Given the description of an element on the screen output the (x, y) to click on. 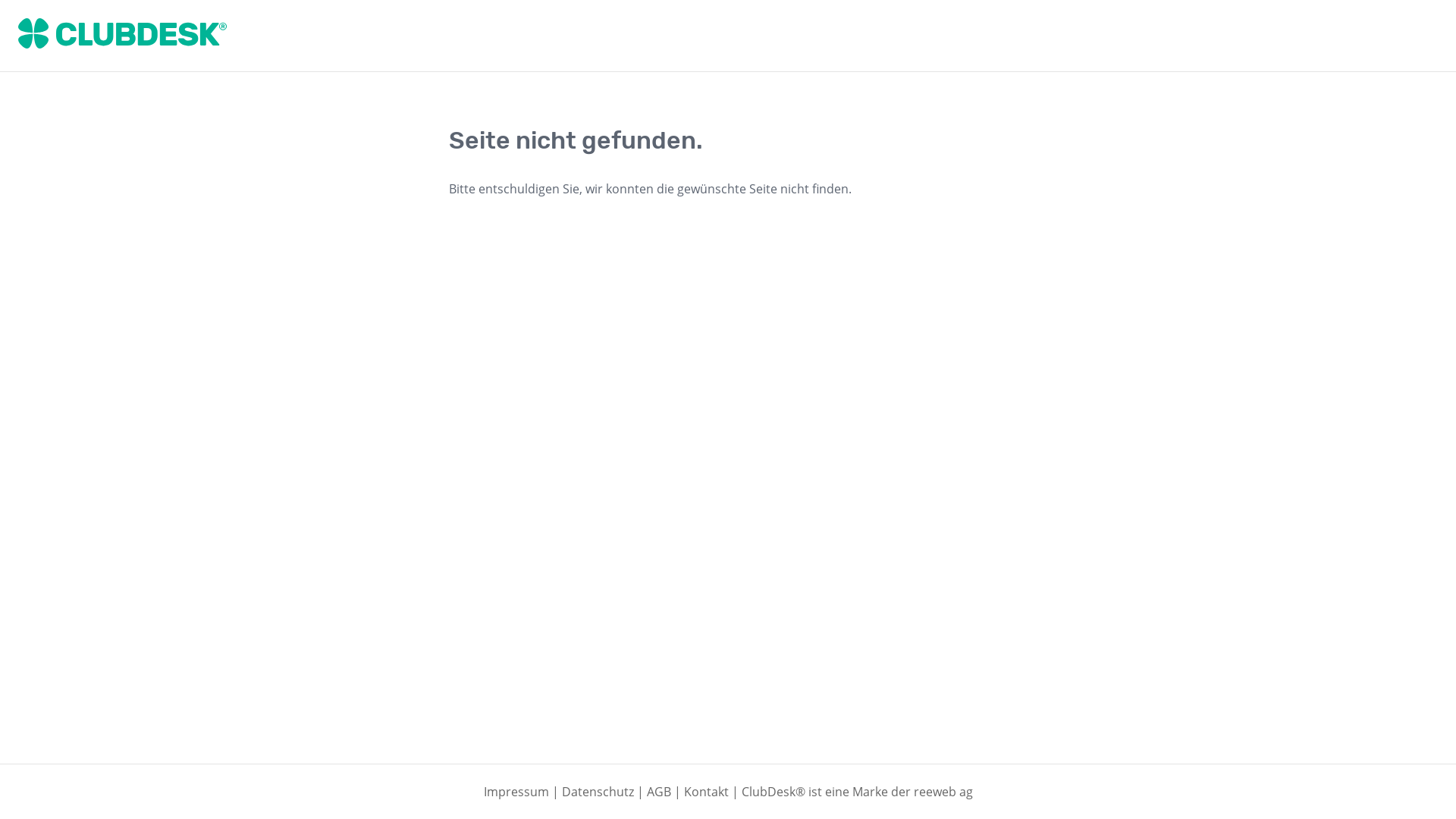
Impressum Element type: text (516, 791)
AGB Element type: text (658, 791)
Datenschutz Element type: text (597, 791)
Kontakt Element type: text (706, 791)
